Given the description of an element on the screen output the (x, y) to click on. 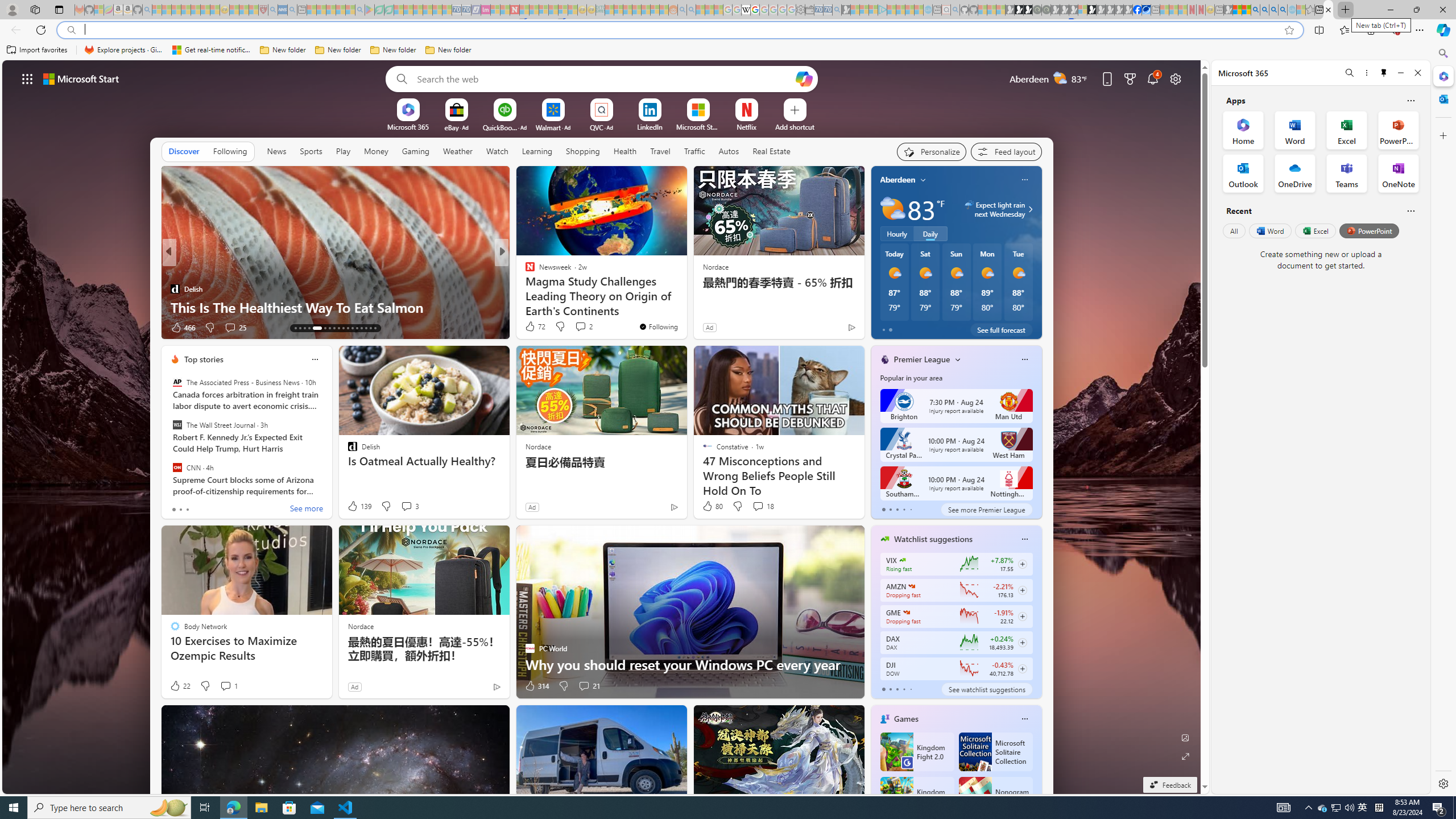
Feedback (1169, 784)
View comments 6 Comment (580, 327)
The Wall Street Journal (176, 424)
12 Science Facts That Sound Like BS - But Aren't (684, 307)
80 Like (712, 505)
Add a site (793, 126)
See more Premier League (986, 509)
Class: weather-arrow-glyph (1029, 208)
